Given the description of an element on the screen output the (x, y) to click on. 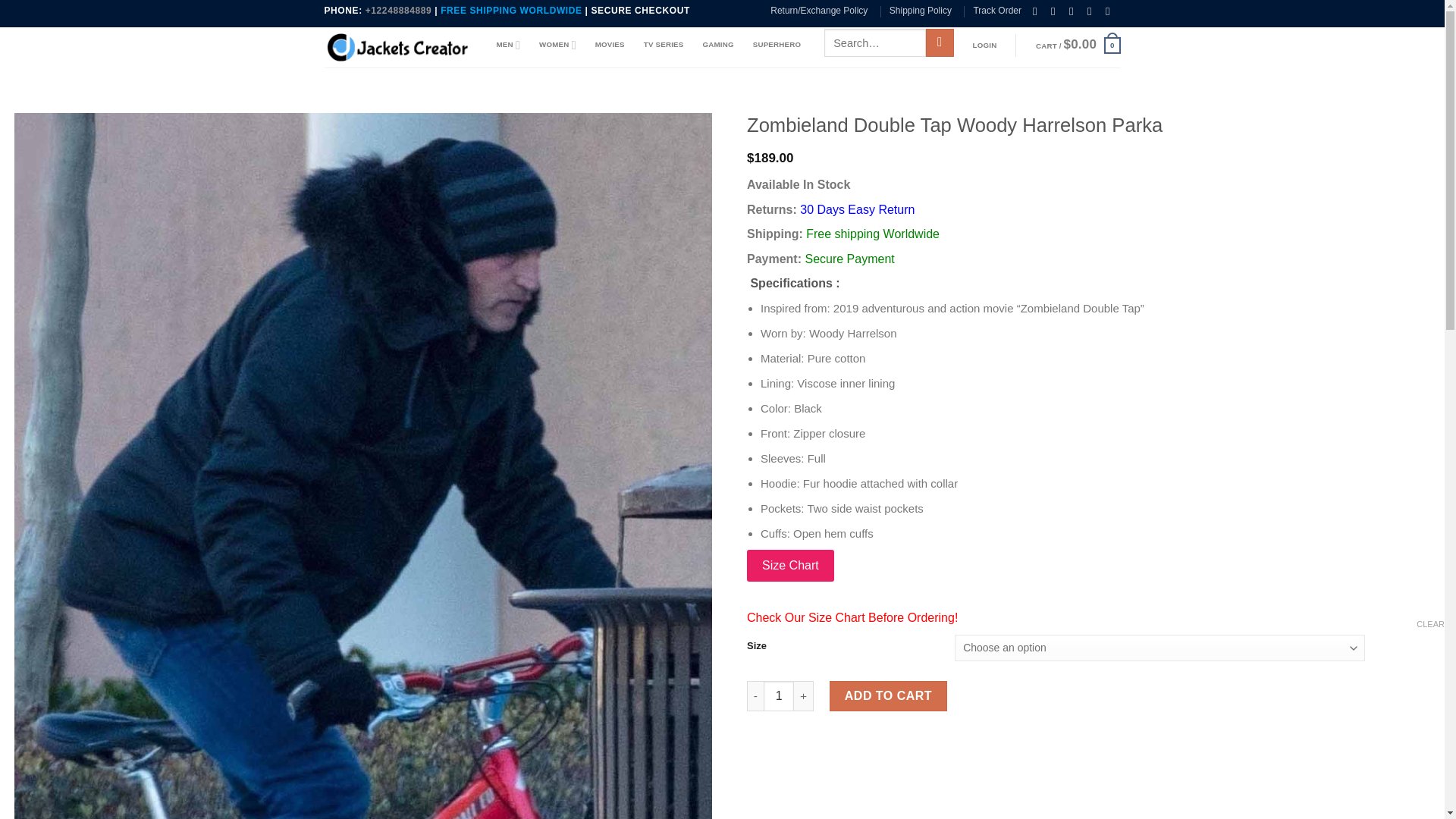
Cart (1078, 45)
Shipping Policy (920, 11)
1 (777, 695)
Jackets Creator (399, 47)
GAMING (717, 44)
Track Order (997, 11)
WOMEN (557, 44)
TV SERIES (663, 44)
